Given the description of an element on the screen output the (x, y) to click on. 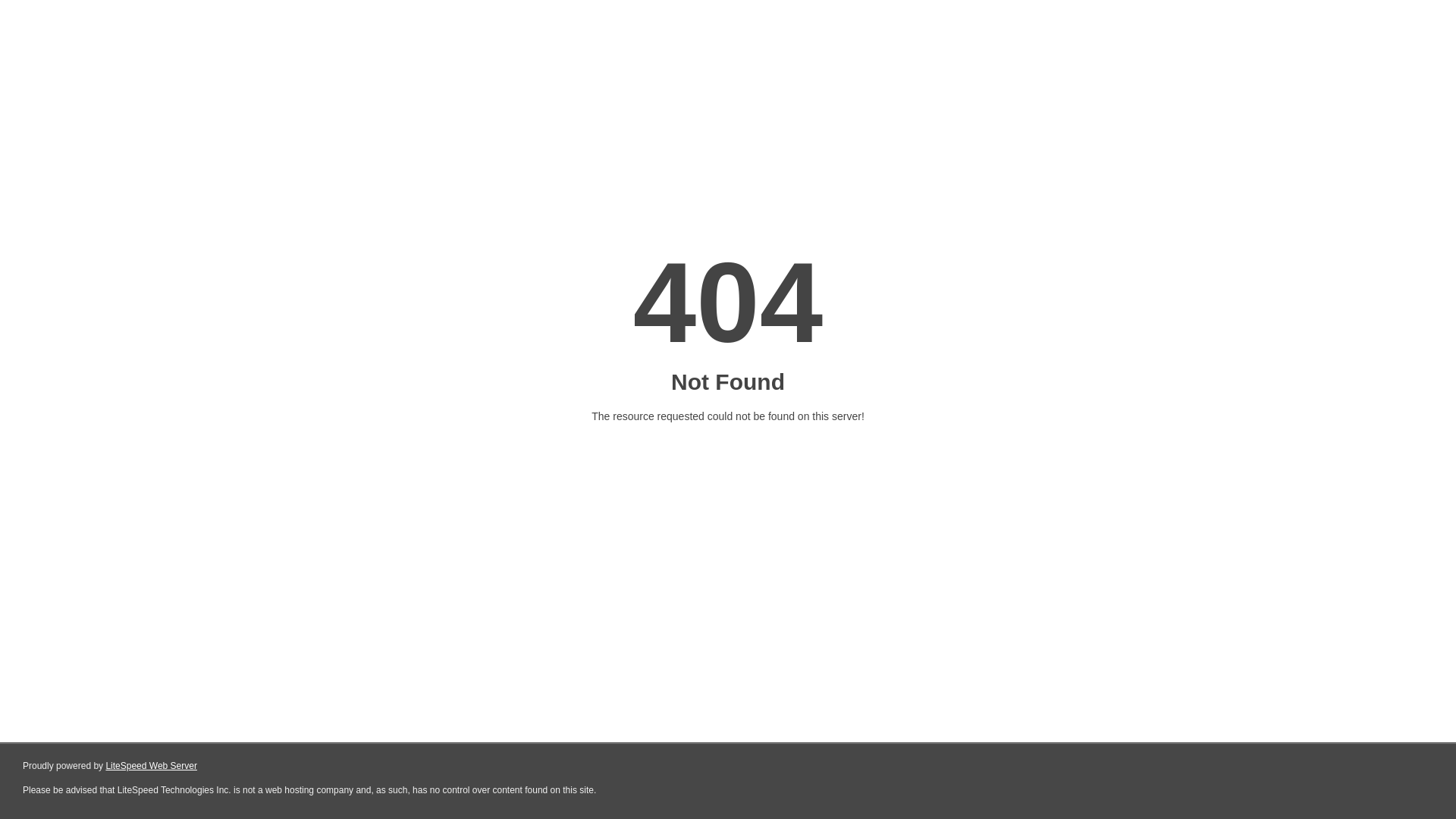
LiteSpeed Web Server Element type: text (151, 765)
